Given the description of an element on the screen output the (x, y) to click on. 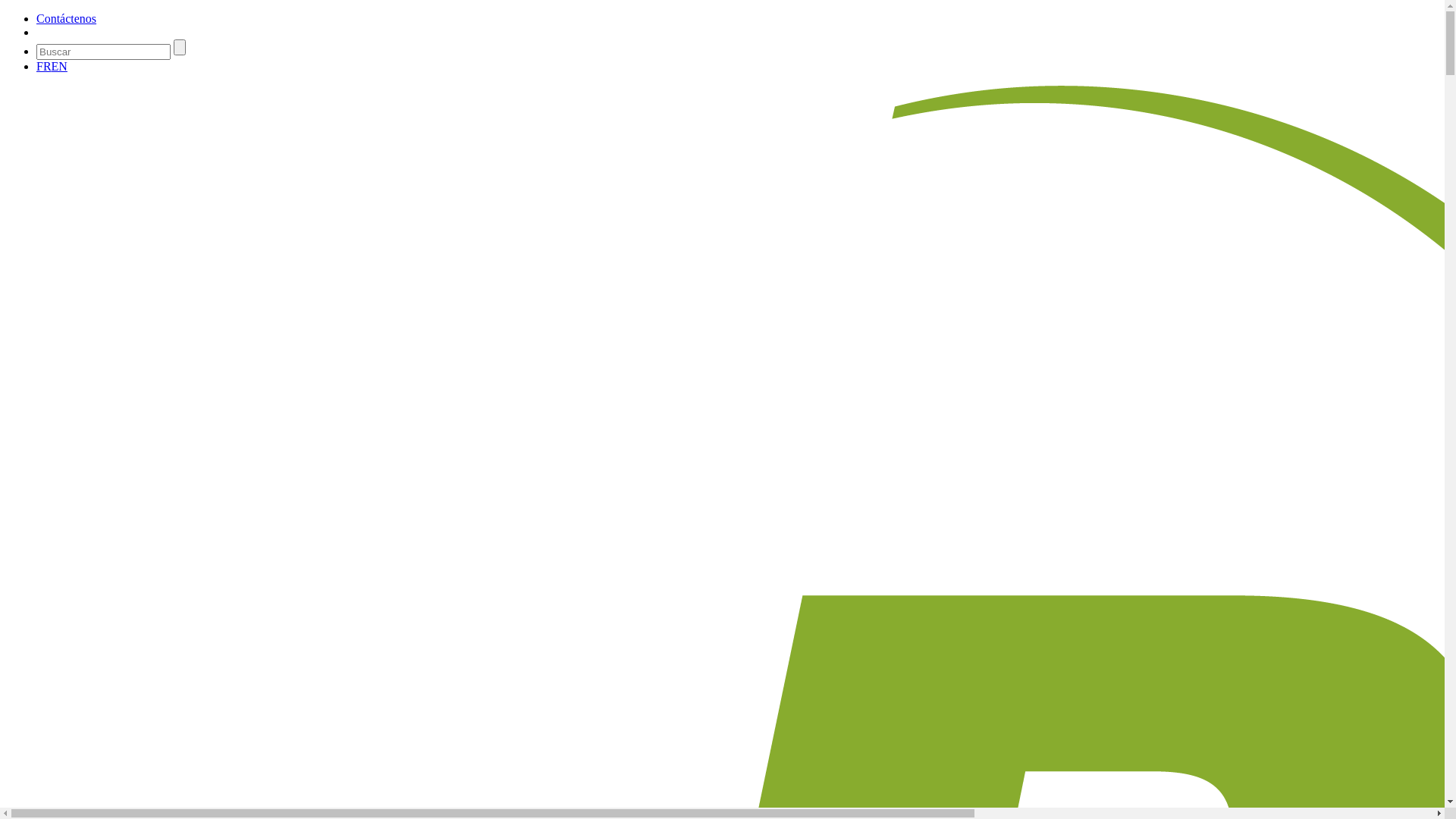
EN Element type: text (59, 65)
FR Element type: text (43, 65)
